Given the description of an element on the screen output the (x, y) to click on. 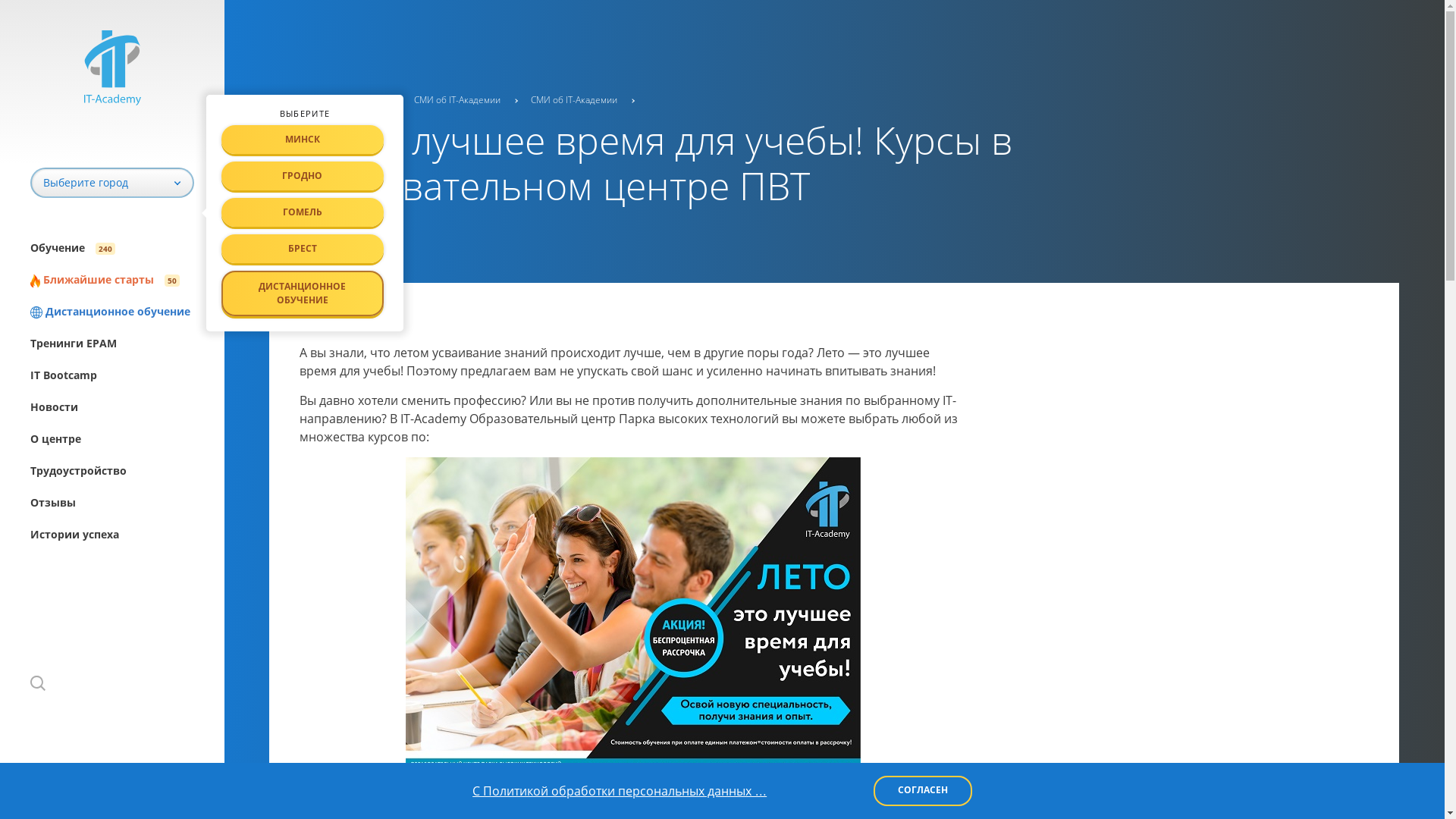
IT Bootcamp Element type: text (127, 375)
IT-Academy Element type: text (294, 99)
